Given the description of an element on the screen output the (x, y) to click on. 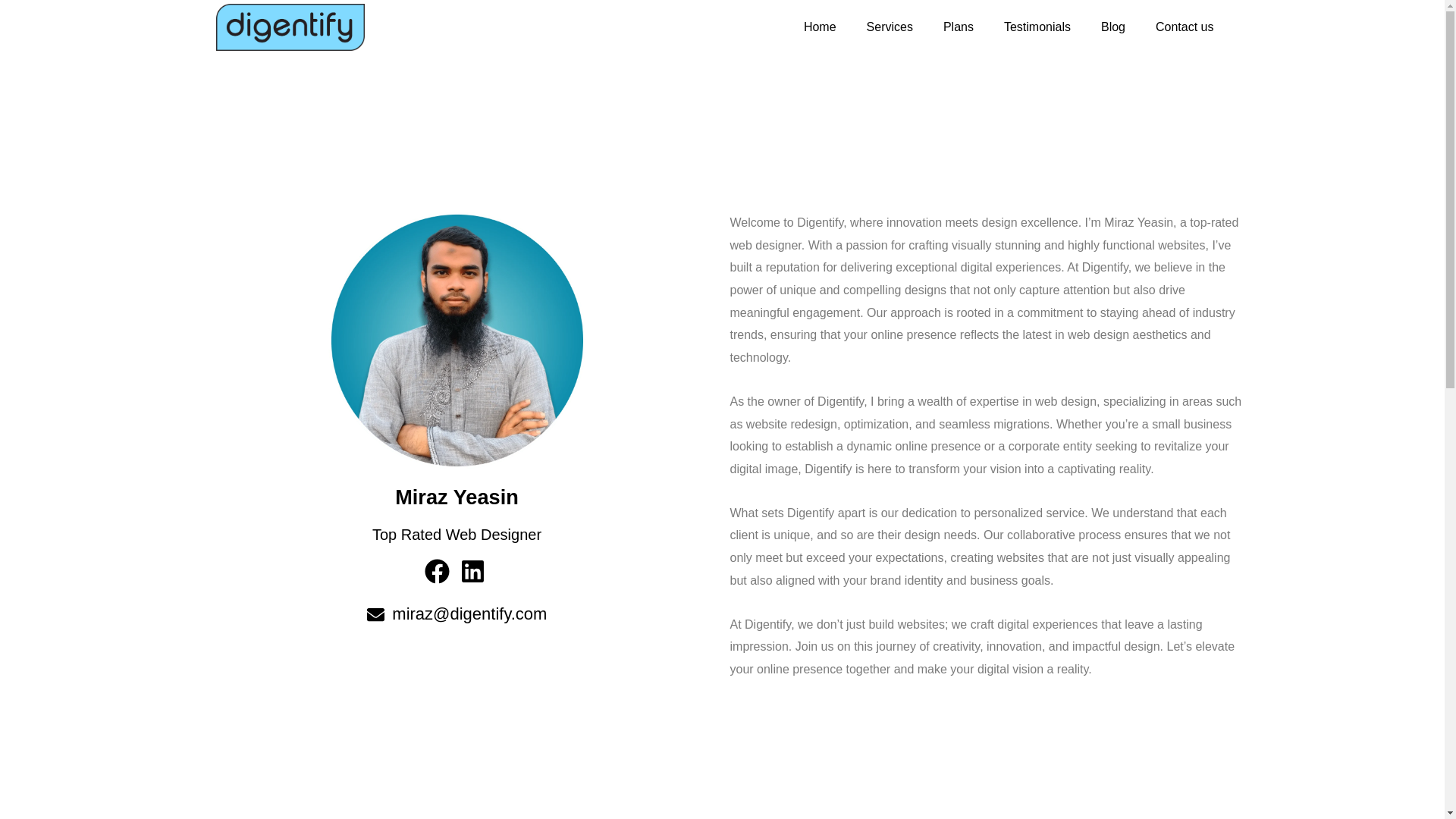
Facebook (439, 570)
Testimonials (1037, 27)
Contact us (1184, 27)
Blog (1113, 27)
Home (820, 27)
Services (889, 27)
Plans (958, 27)
Linkedin (474, 570)
